Given the description of an element on the screen output the (x, y) to click on. 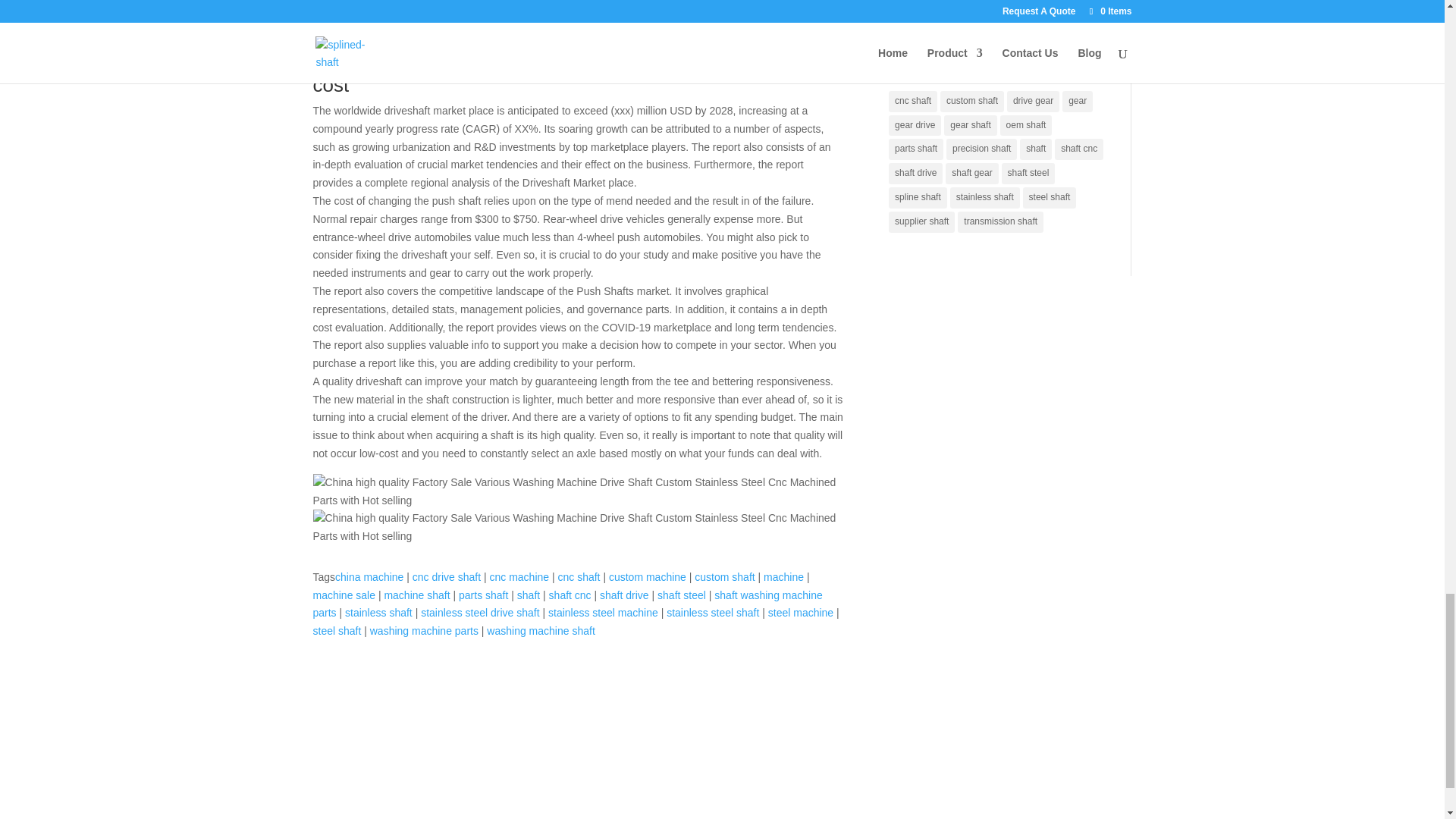
stainless steel drive shaft (479, 612)
cnc machine (518, 576)
shaft drive (624, 594)
steel machine (800, 612)
parts shaft (483, 594)
shaft washing machine parts (567, 603)
washing machine parts (424, 630)
shaft steel (682, 594)
cnc shaft (578, 576)
stainless steel machine (603, 612)
stainless steel shaft (712, 612)
custom machine (646, 576)
custom shaft (724, 576)
stainless shaft (378, 612)
machine sale (344, 594)
